Given the description of an element on the screen output the (x, y) to click on. 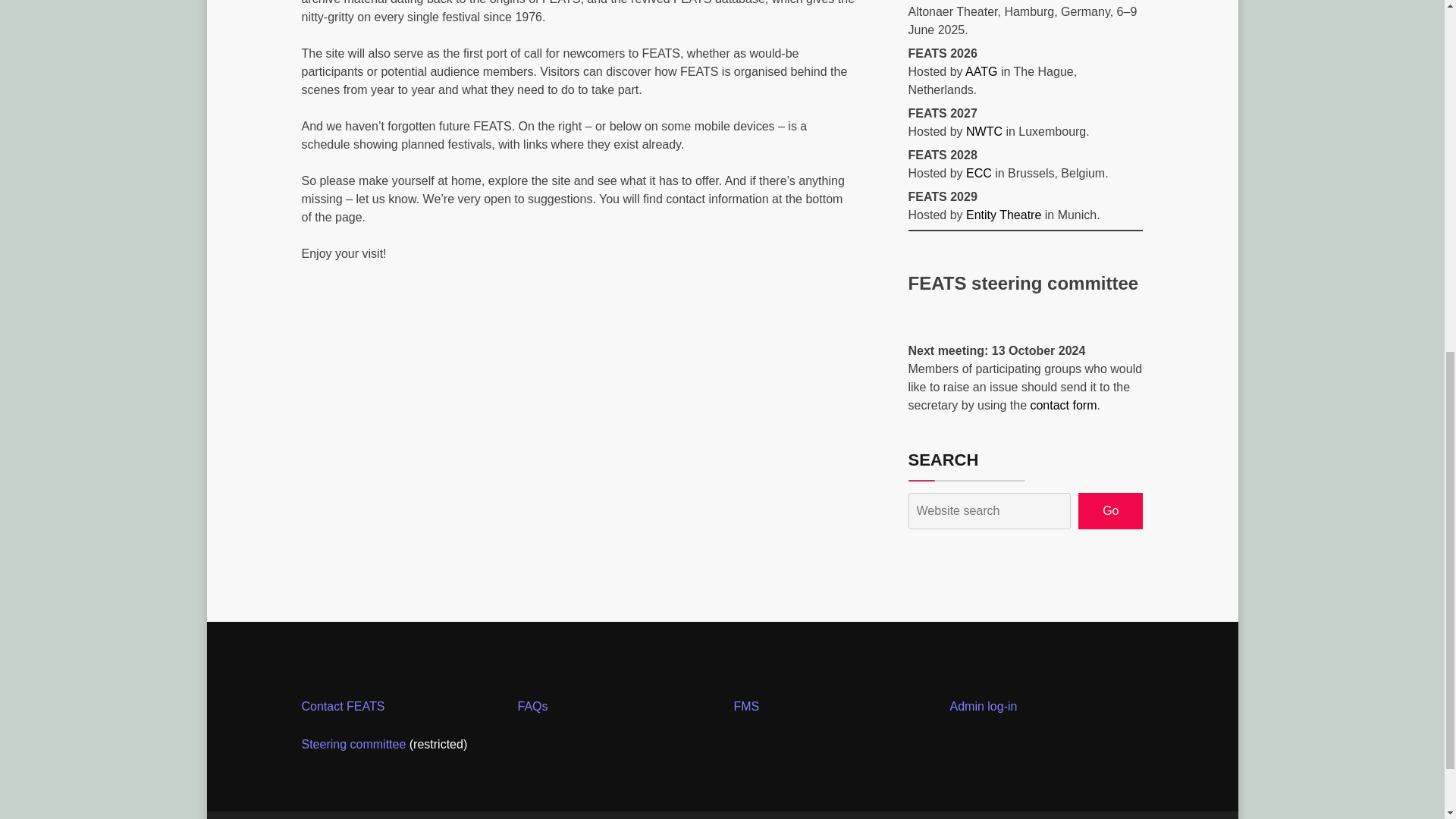
ECC (978, 173)
Contact FEATS (343, 706)
FMS (746, 706)
AATG (981, 71)
Admin log-in (982, 706)
Steering committee (353, 744)
FAQs (531, 706)
Go (1110, 511)
Entity Theatre (1003, 214)
contact form (1062, 404)
NWTC (984, 131)
